Given the description of an element on the screen output the (x, y) to click on. 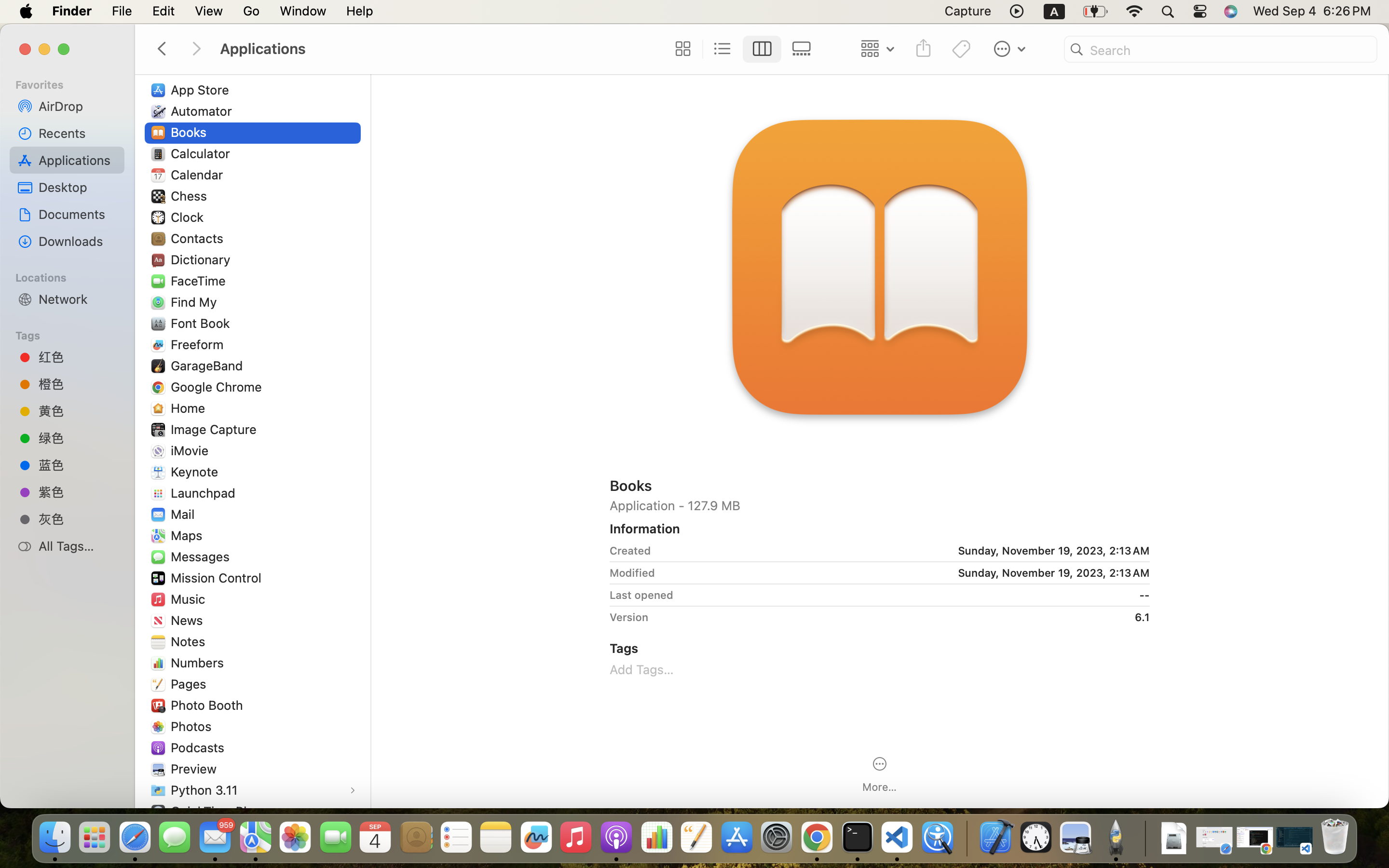
Calculator Element type: AXTextField (202, 153)
0 Element type: AXRadioButton (680, 48)
0.0 Element type: AXValueIndicator (364, 324)
<AXUIElement 0x12561b880> {pid=510} Element type: AXRadioGroup (741, 48)
Tags Element type: AXStaticText (72, 334)
